Given the description of an element on the screen output the (x, y) to click on. 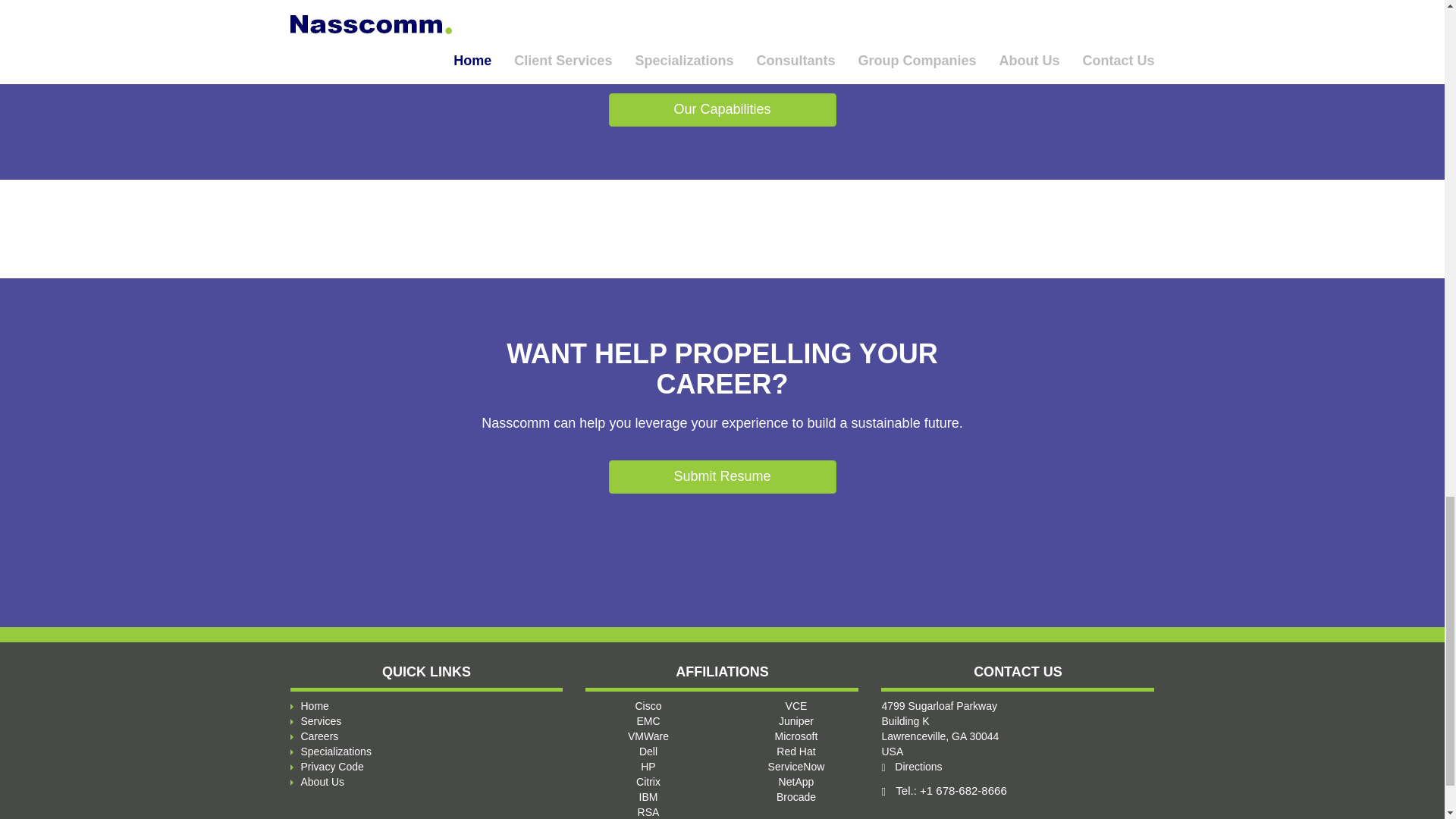
Privacy Code (330, 766)
Specializations (335, 751)
Our Capabilities (721, 109)
Careers (1017, 29)
Directions (318, 736)
Services (911, 766)
Security (319, 720)
About Us (722, 19)
Home (321, 781)
